Given the description of an element on the screen output the (x, y) to click on. 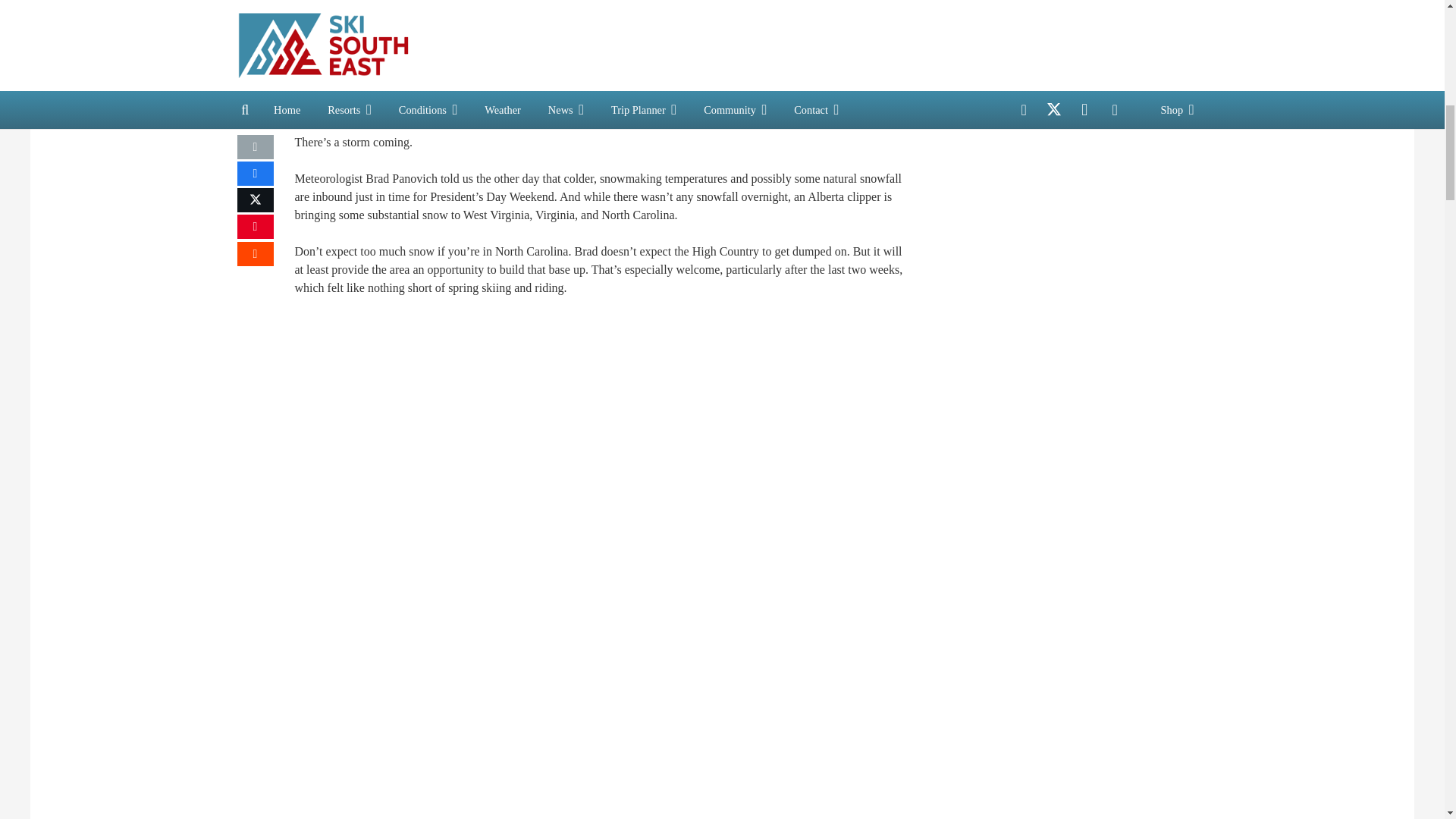
Share this (254, 252)
Share this (254, 173)
Pin this (254, 226)
Tweet this (254, 200)
Email this (254, 146)
